Given the description of an element on the screen output the (x, y) to click on. 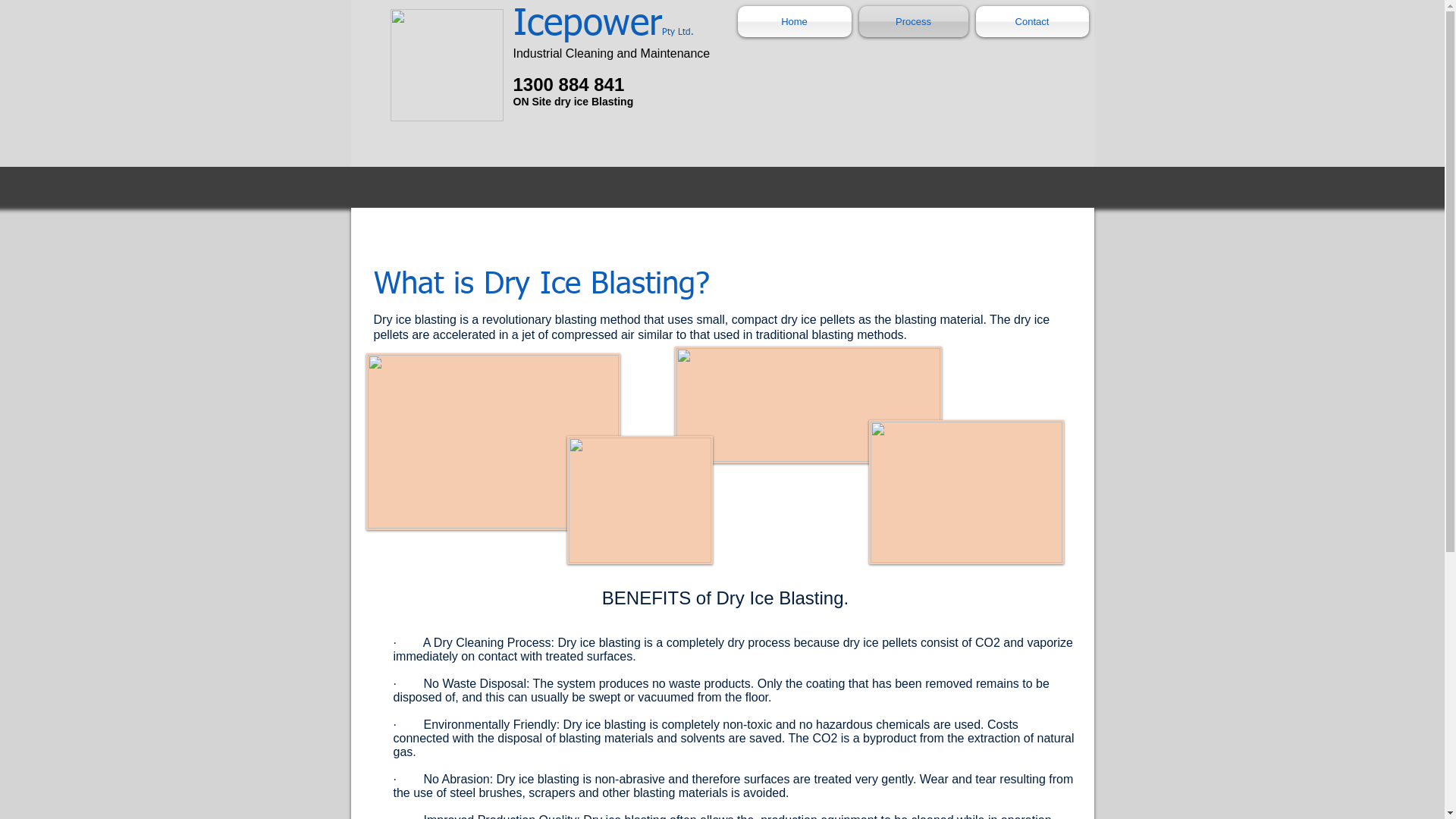
train control box_Page_02.jpg Element type: hover (966, 492)
train control box_Page_12_edited_edited.jpg Element type: hover (807, 404)
Process Element type: text (913, 21)
Home Element type: text (795, 21)
Contact Element type: text (1030, 21)
